Given the description of an element on the screen output the (x, y) to click on. 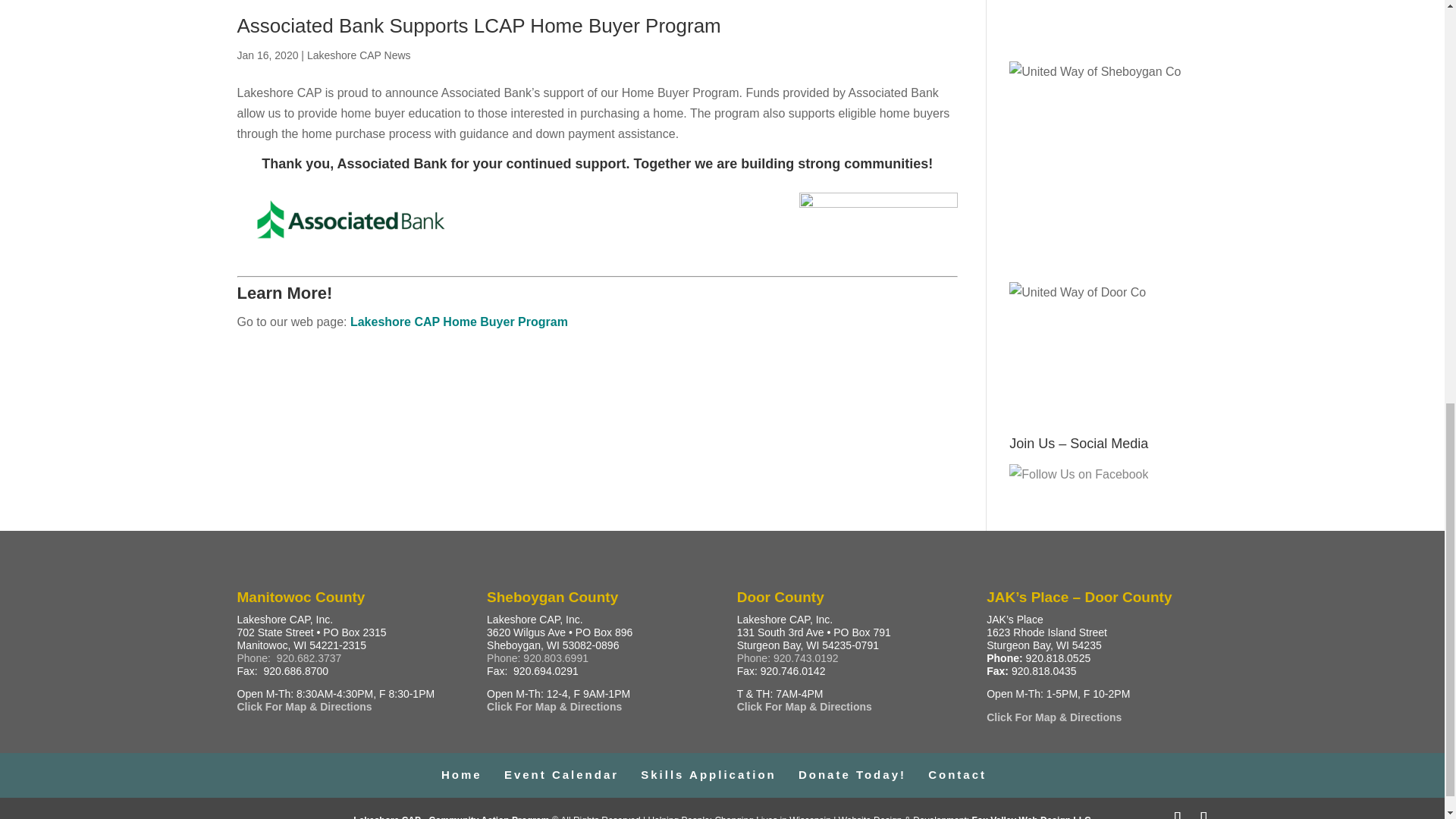
Follow Us on Facebook (1078, 474)
Supported by: (1108, 19)
